Given the description of an element on the screen output the (x, y) to click on. 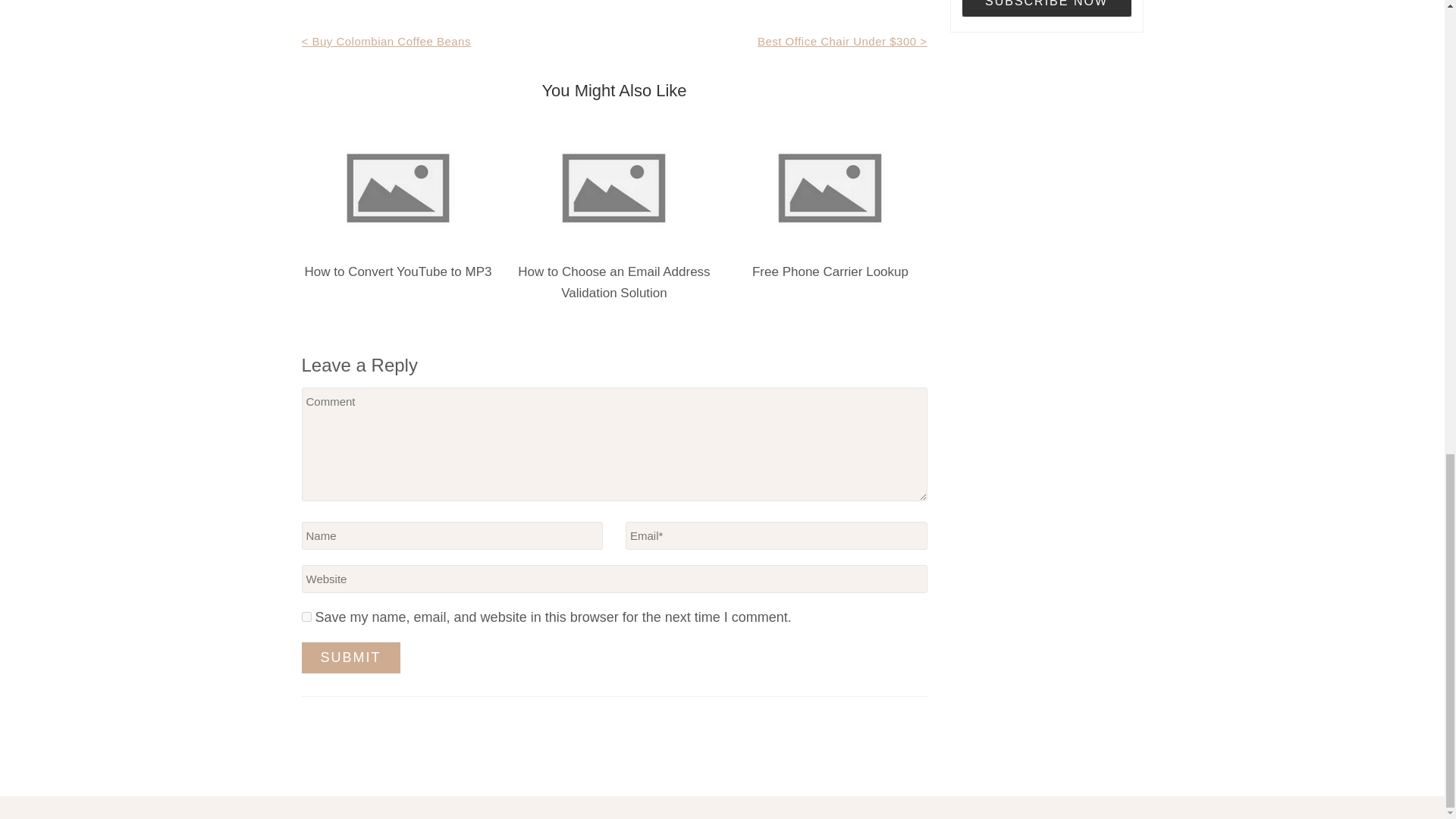
Submit (350, 657)
yes (306, 616)
Submit (350, 657)
Free Phone Carrier Lookup (830, 271)
How to Convert YouTube to MP3 (398, 271)
How to Choose an Email Address Validation Solution (614, 282)
SUBSCRIBE NOW (1045, 8)
SUBSCRIBE NOW (1045, 8)
